Given the description of an element on the screen output the (x, y) to click on. 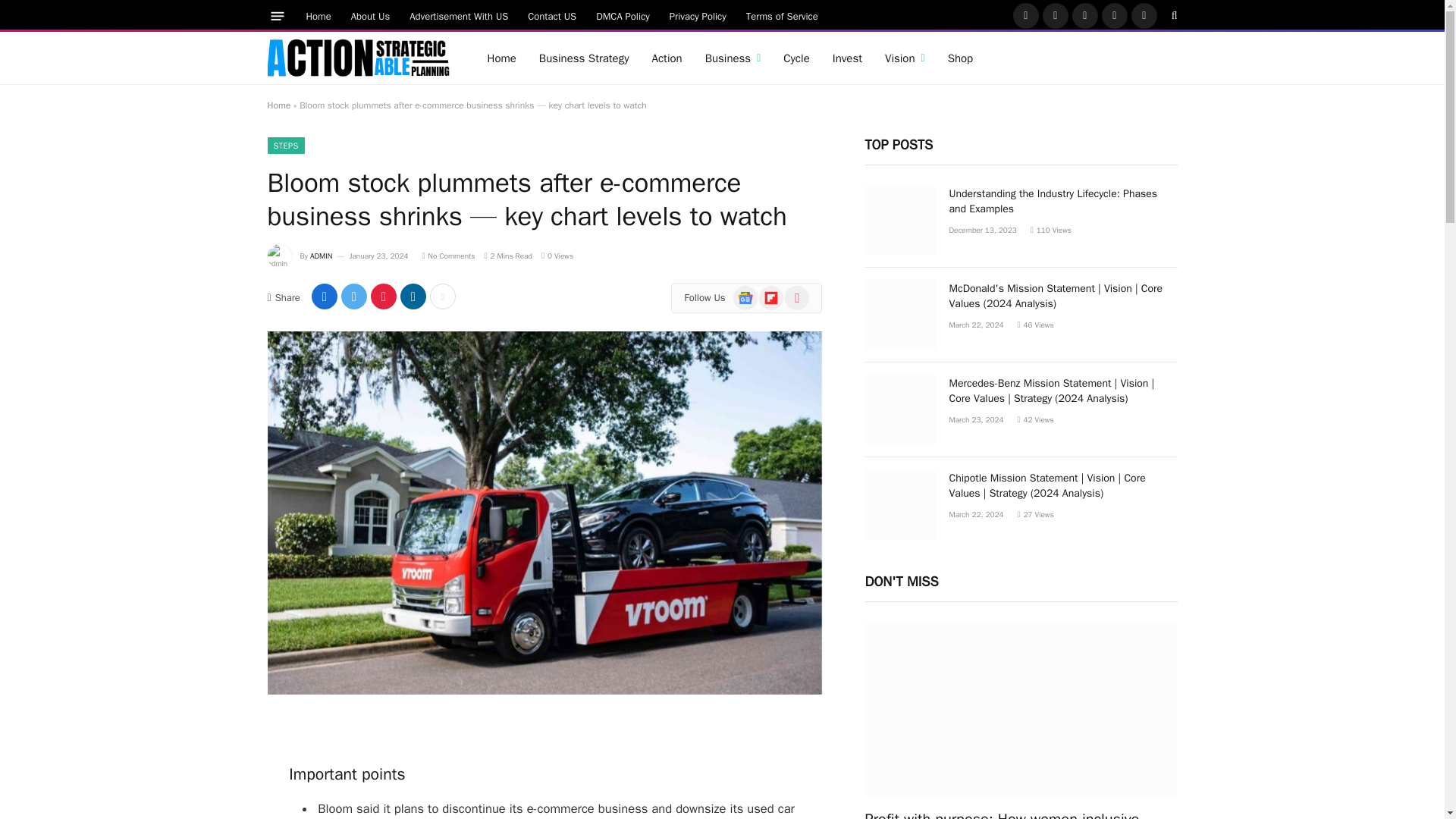
Actionable Strategic Planning (357, 58)
Terms of Service (782, 15)
Vimeo (1144, 15)
DMCA Policy (622, 15)
Share on Pinterest (383, 296)
0 Article Views (557, 255)
Action (666, 57)
Home (501, 57)
Contact US (552, 15)
Advertisement With US (458, 15)
